Given the description of an element on the screen output the (x, y) to click on. 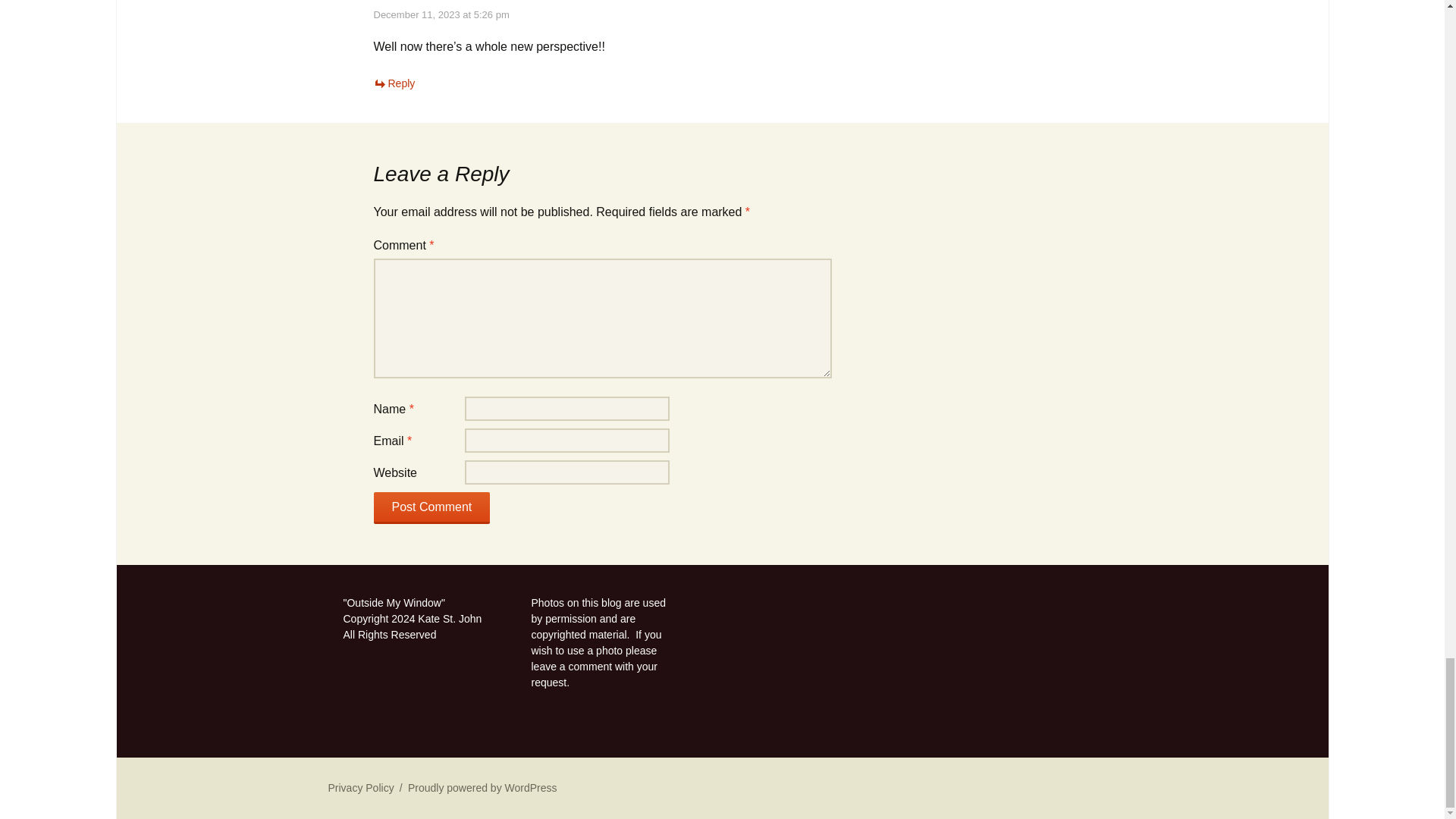
December 11, 2023 at 5:26 pm (440, 14)
Reply (393, 82)
Post Comment (430, 508)
Post Comment (430, 508)
